Given the description of an element on the screen output the (x, y) to click on. 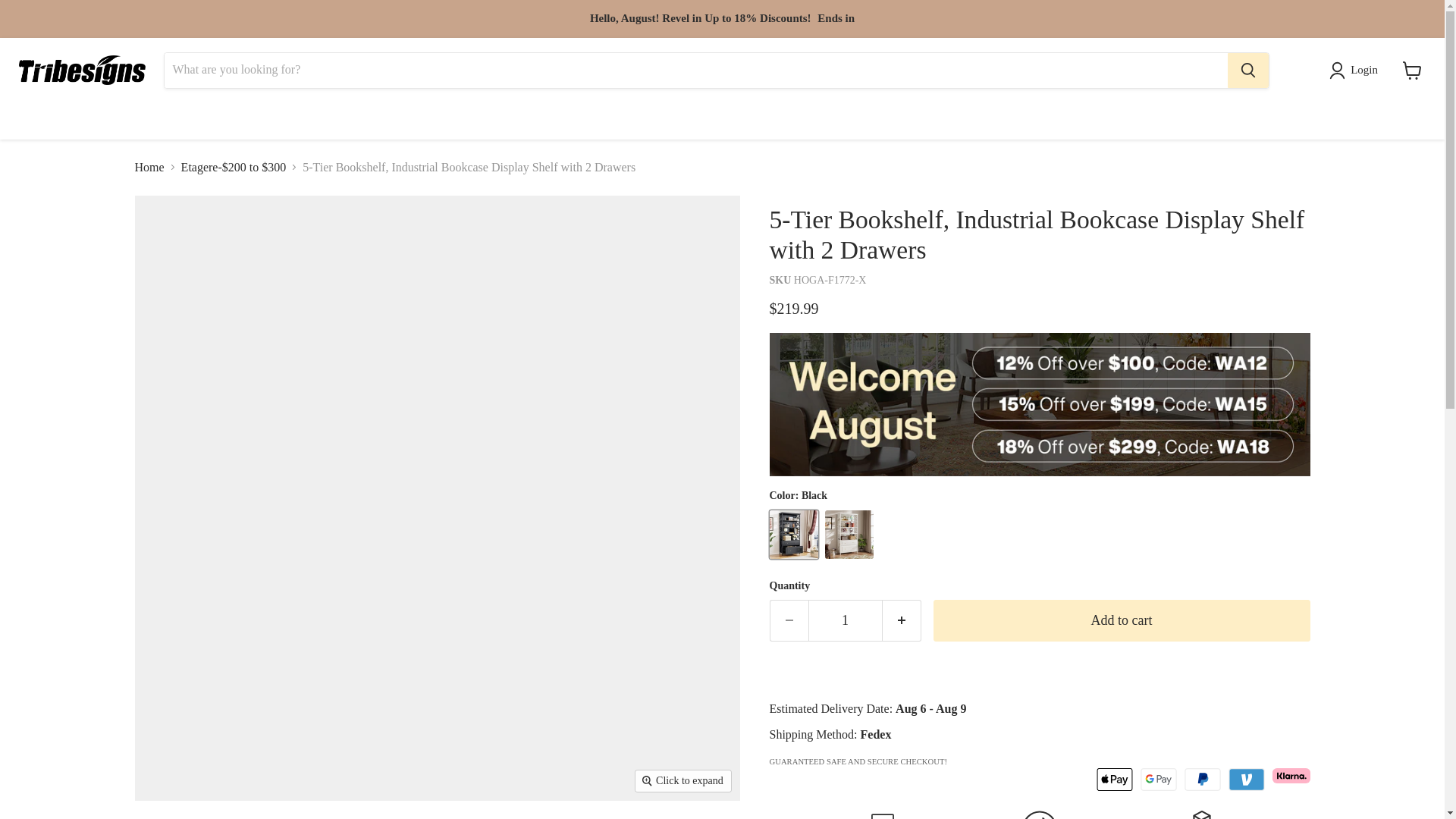
Google Pay (1158, 779)
Apple Pay (1114, 779)
Venmo (1246, 779)
PayPal (1203, 779)
Login (1356, 70)
View cart (1411, 69)
1 (845, 620)
